Given the description of an element on the screen output the (x, y) to click on. 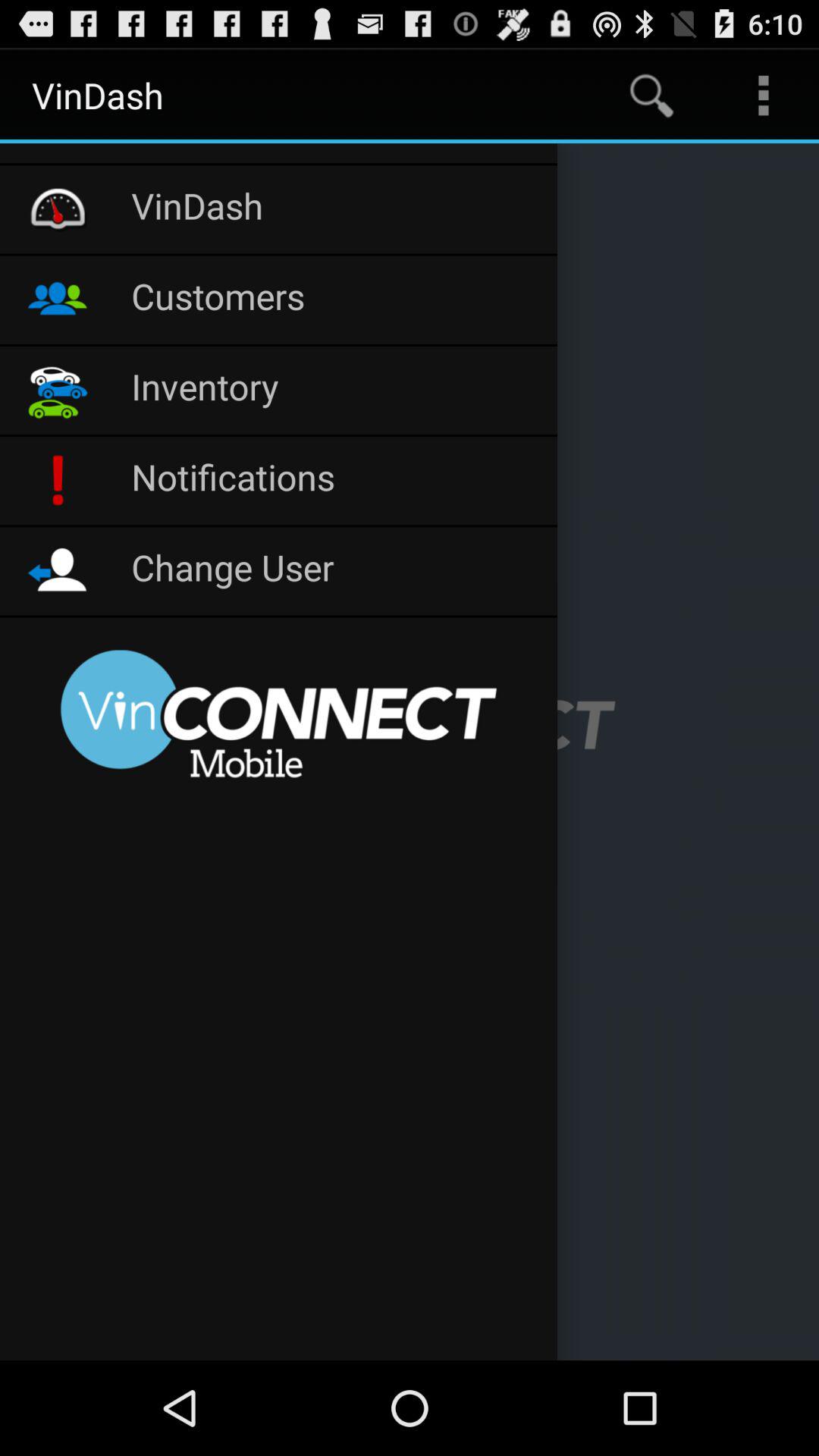
launch customers item (336, 299)
